Given the description of an element on the screen output the (x, y) to click on. 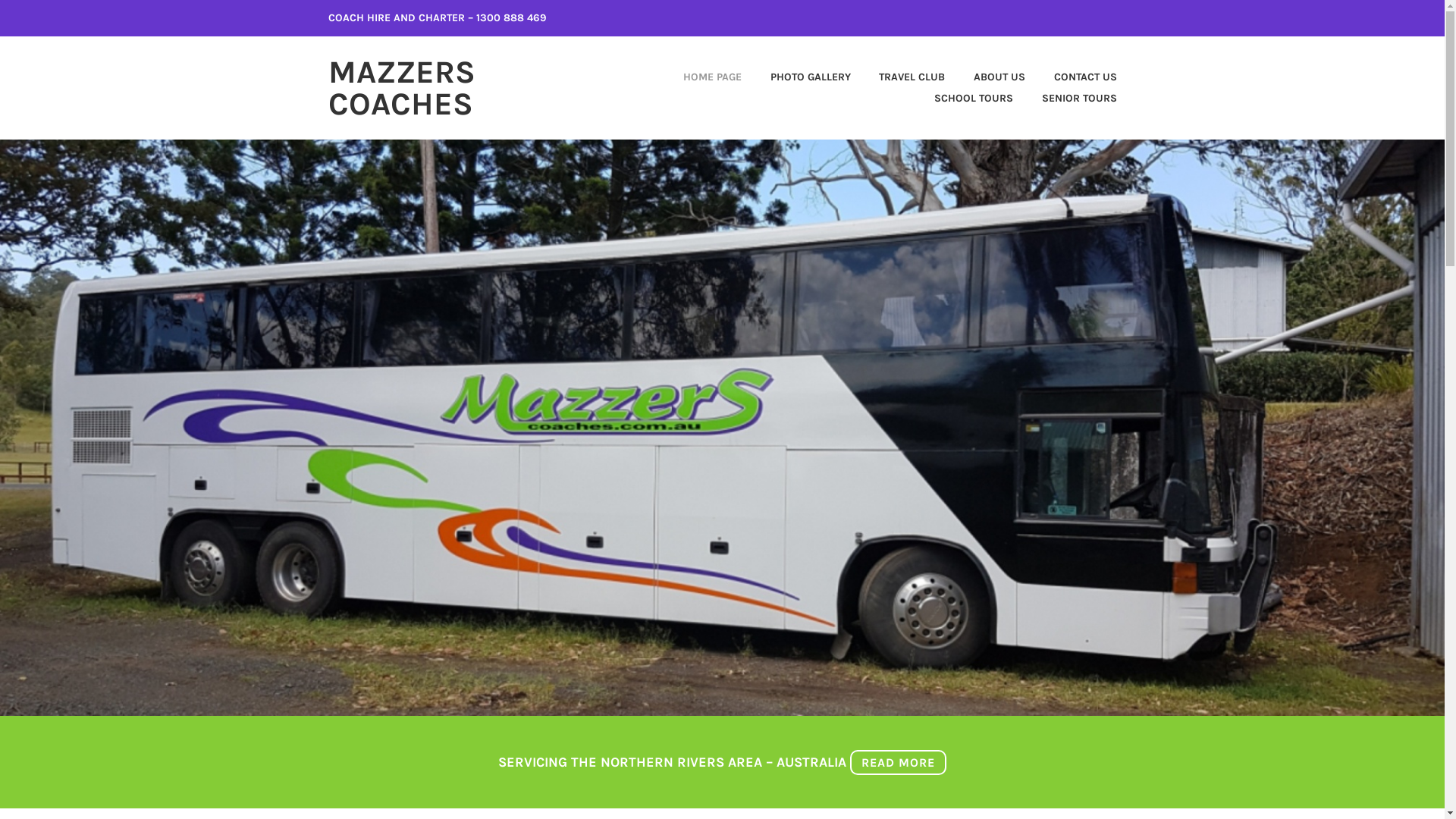
PHOTO GALLERY Element type: text (797, 76)
Skip to content Element type: text (0, 0)
MAZZERS COACHES Element type: text (400, 87)
READ MORE Element type: text (898, 762)
SCHOOL TOURS Element type: text (960, 98)
ABOUT US Element type: text (986, 76)
HOME PAGE Element type: text (700, 76)
TRAVEL CLUB Element type: text (899, 76)
CONTACT US Element type: text (1072, 76)
SENIOR TOURS Element type: text (1066, 98)
